Given the description of an element on the screen output the (x, y) to click on. 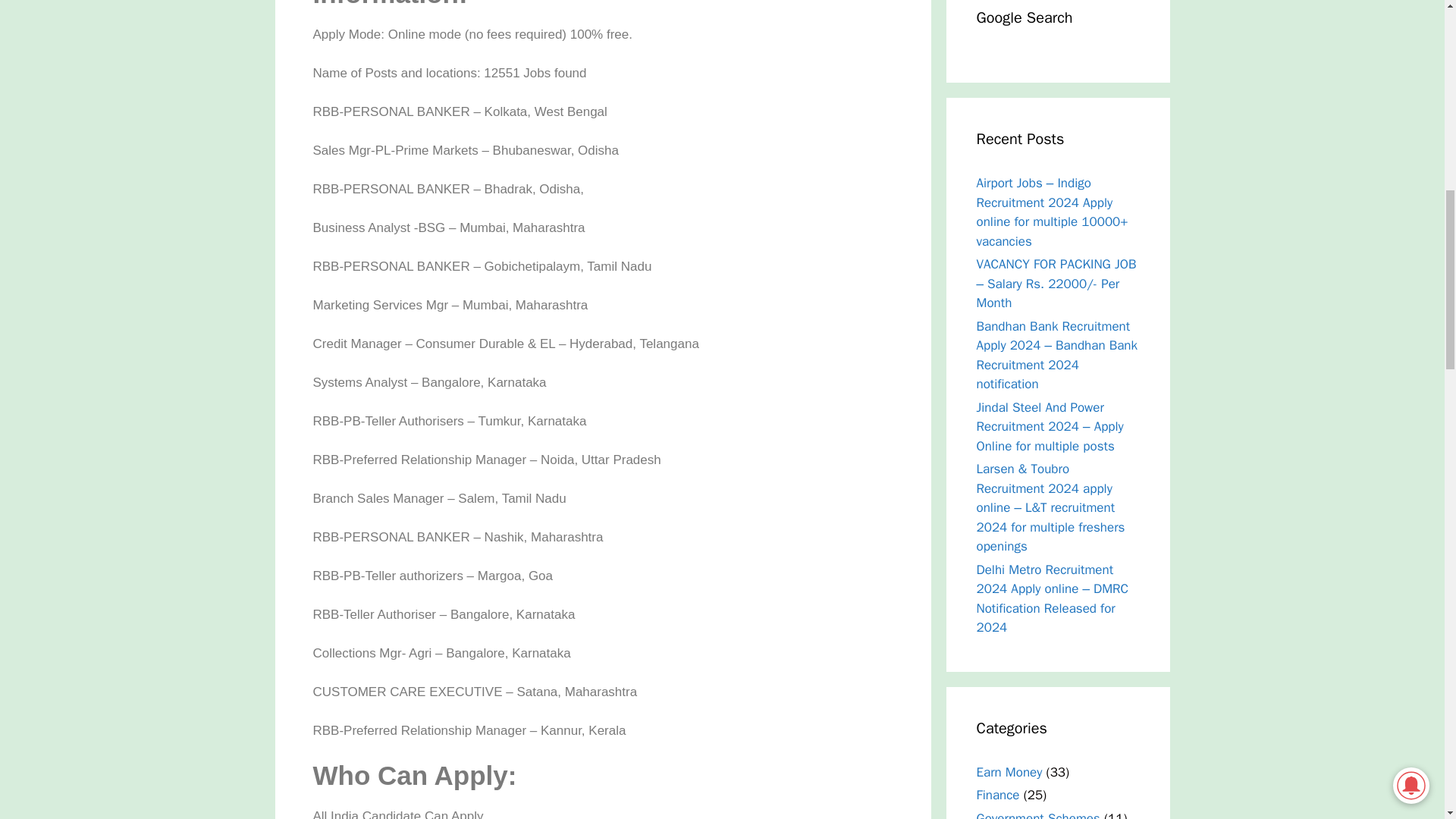
Finance (998, 795)
Government Schemes (1038, 814)
Earn Money (1009, 772)
Scroll back to top (1406, 720)
